Given the description of an element on the screen output the (x, y) to click on. 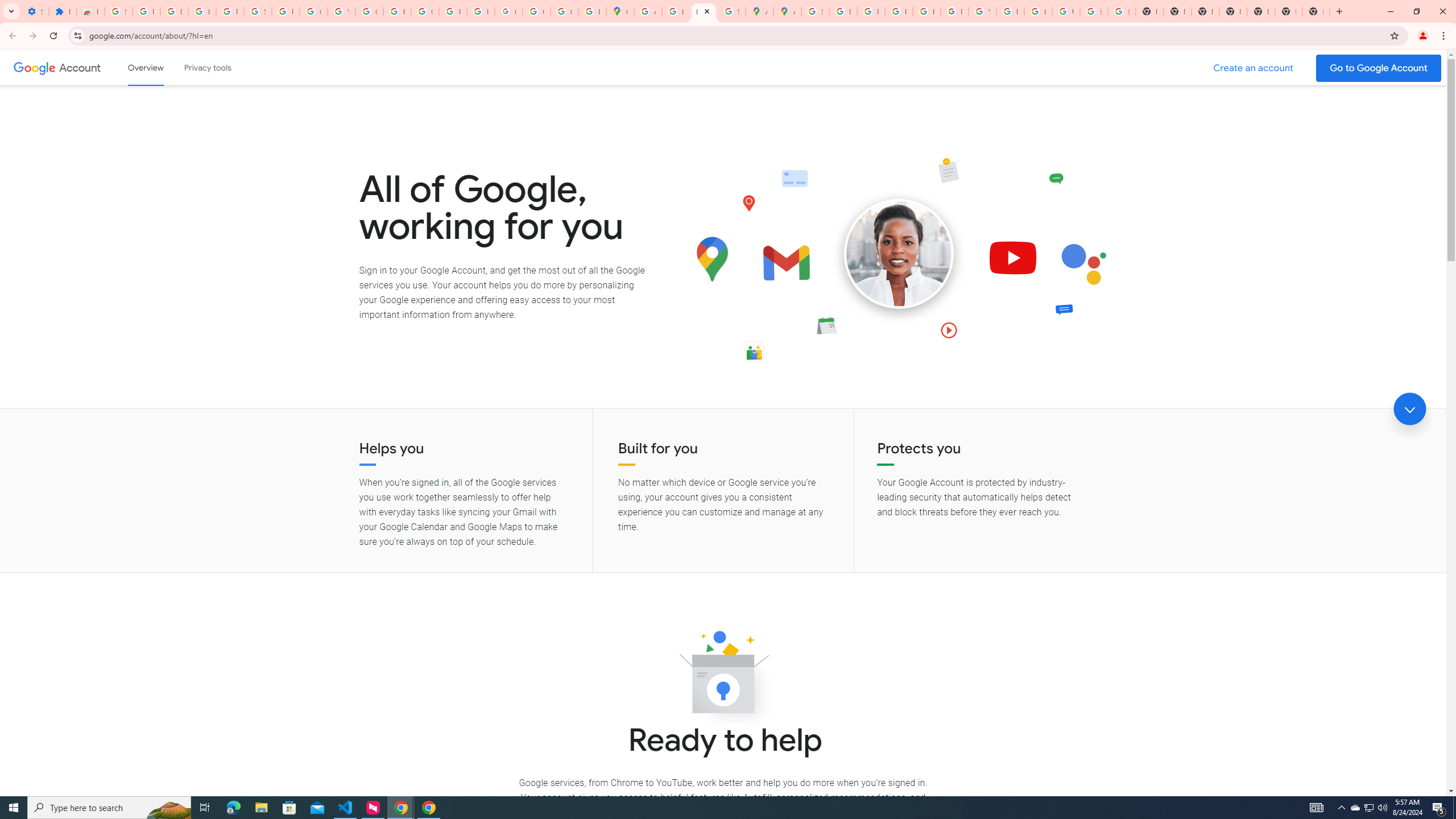
Privacy Help Center - Policies Help (898, 11)
Privacy Help Center - Policies Help (870, 11)
Google Maps (620, 11)
https://scholar.google.com/ (397, 11)
Sign in - Google Accounts (257, 11)
Settings - On startup (34, 11)
Create a Google Account (1253, 67)
